Given the description of an element on the screen output the (x, y) to click on. 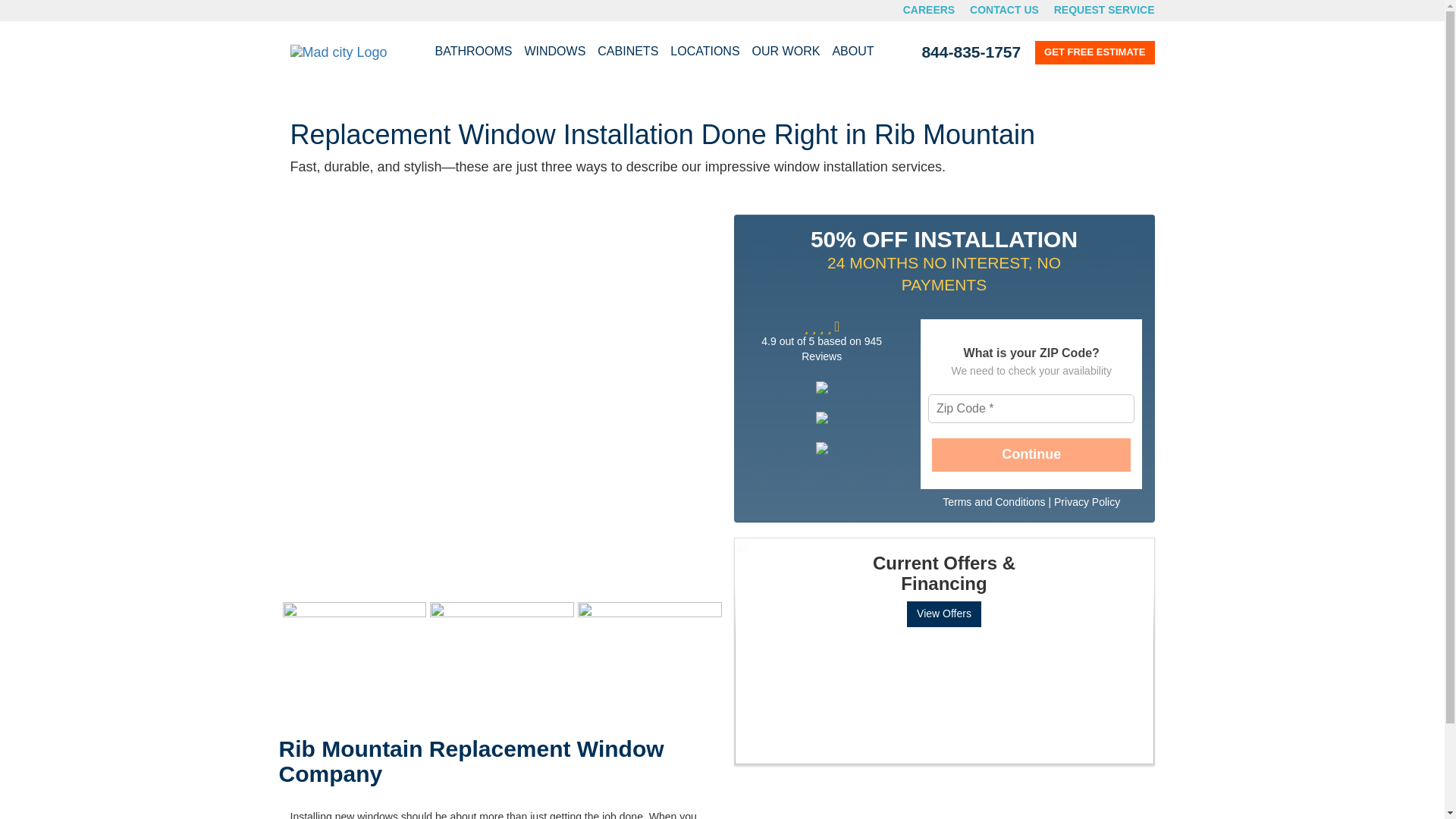
REQUEST SERVICE (1104, 9)
CAREERS (928, 9)
CONTACT US (1004, 9)
844-835-1757 (970, 52)
BATHROOMS (473, 51)
GET FREE ESTIMATE (1094, 52)
WINDOWS (554, 51)
GET FREE ESTIMATE (1094, 52)
